Given the description of an element on the screen output the (x, y) to click on. 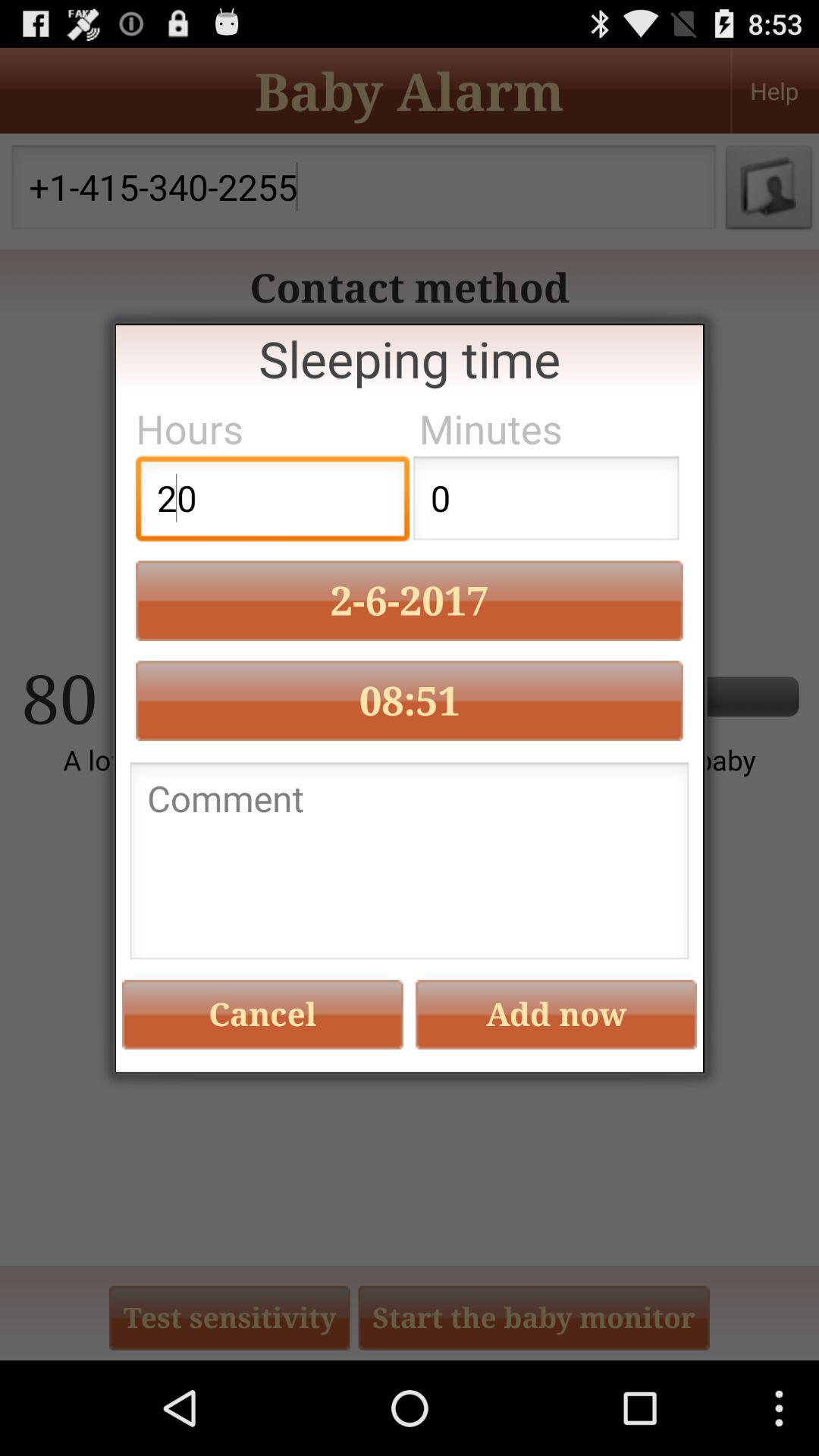
comments (409, 864)
